Given the description of an element on the screen output the (x, y) to click on. 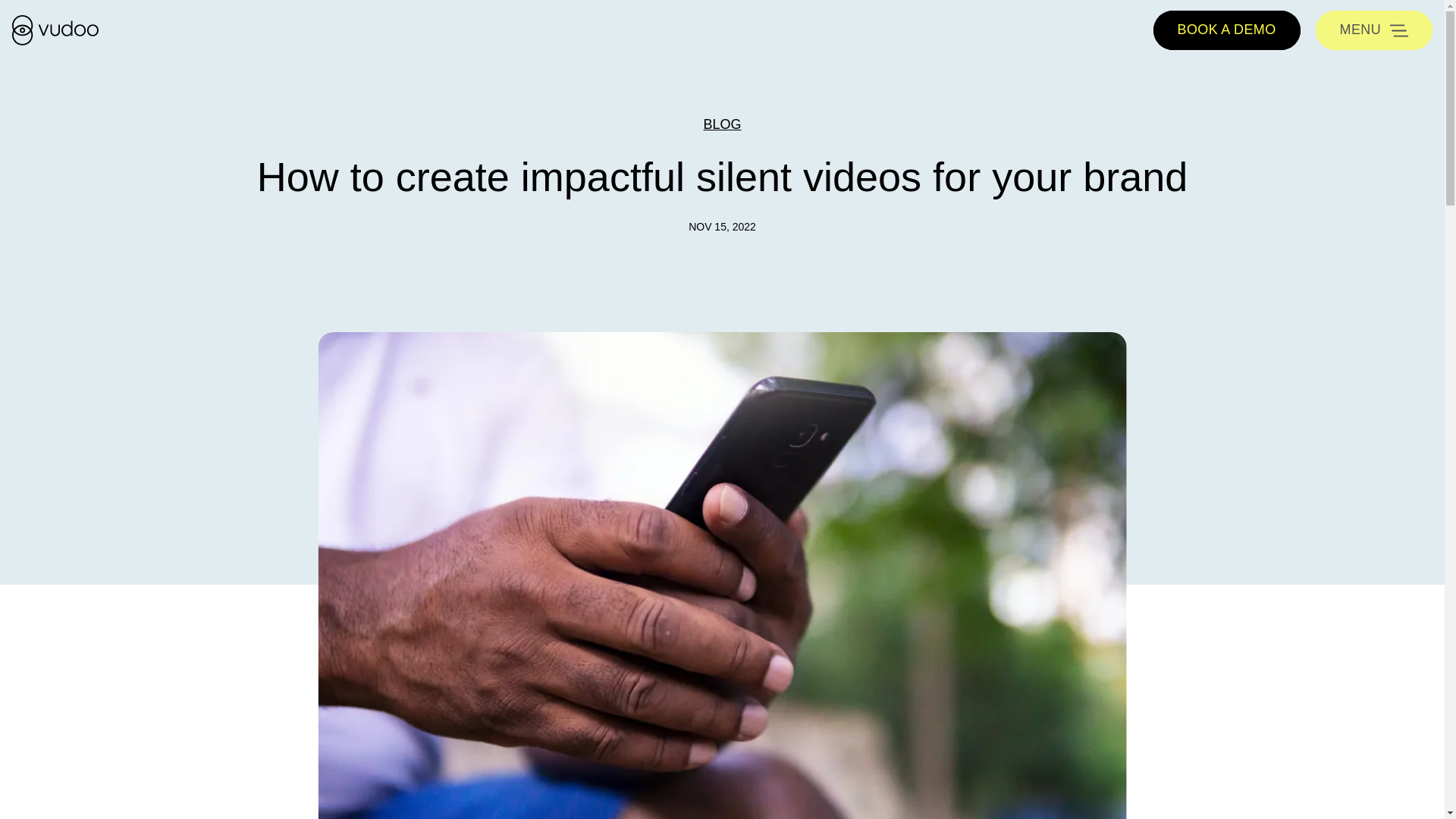
BOOK A DEMO (1226, 29)
MENU (1374, 29)
BLOG (722, 124)
